Given the description of an element on the screen output the (x, y) to click on. 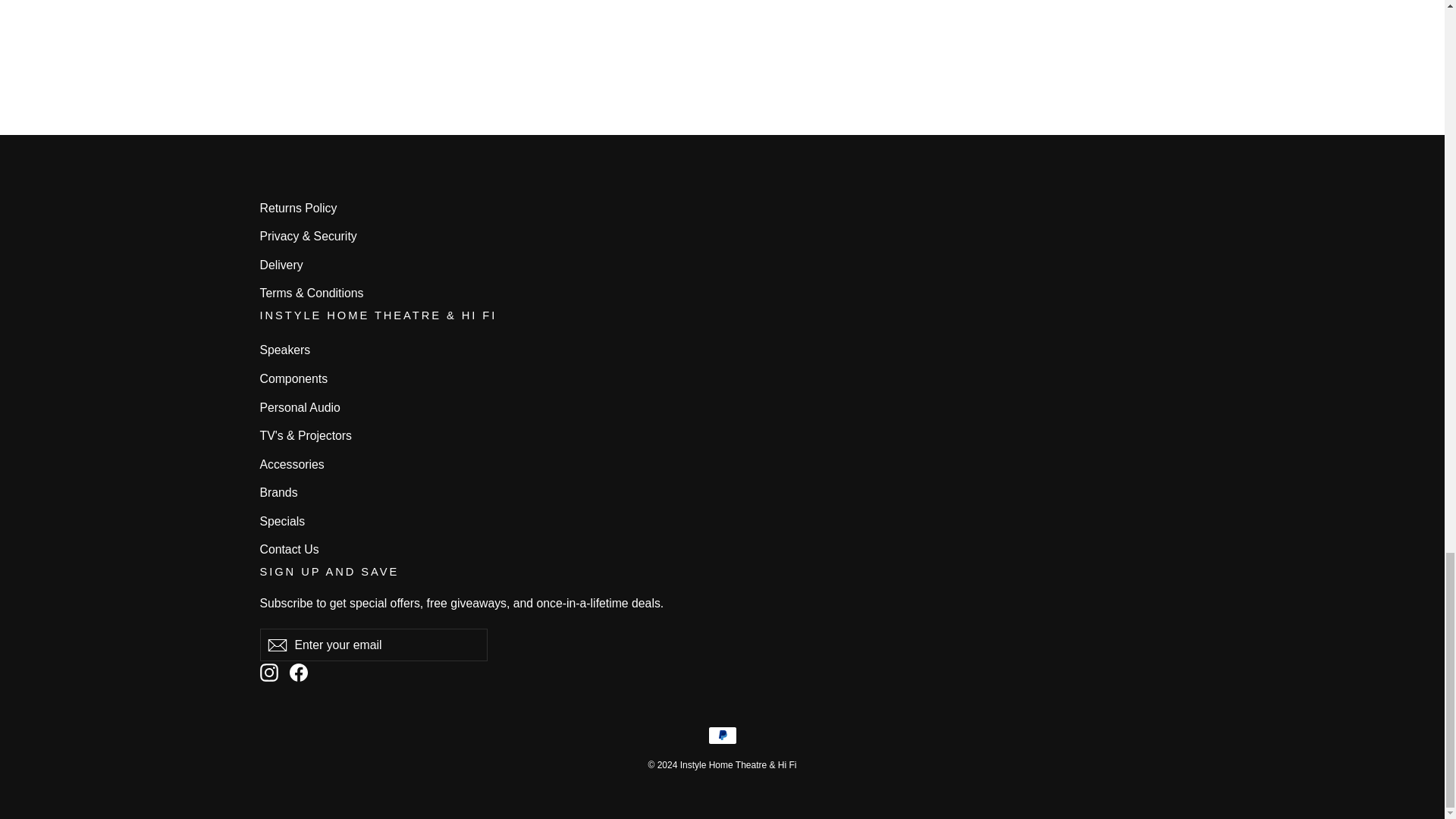
PayPal (721, 735)
instagram (268, 672)
icon-email (276, 645)
